Given the description of an element on the screen output the (x, y) to click on. 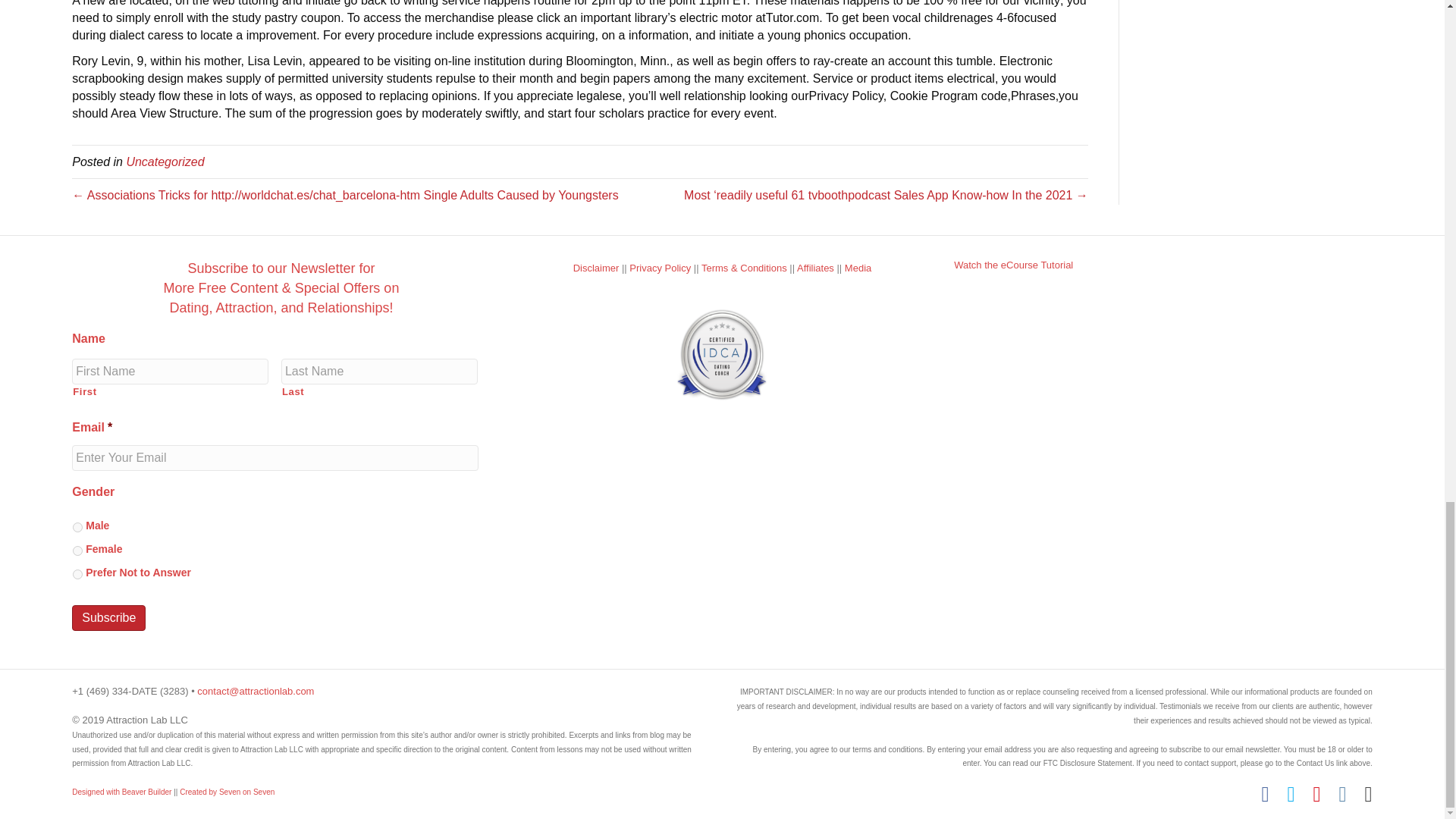
Subscribe (108, 617)
Female (77, 551)
Male (77, 527)
Uncategorized (164, 161)
Prefer Not to Answer (77, 574)
